Given the description of an element on the screen output the (x, y) to click on. 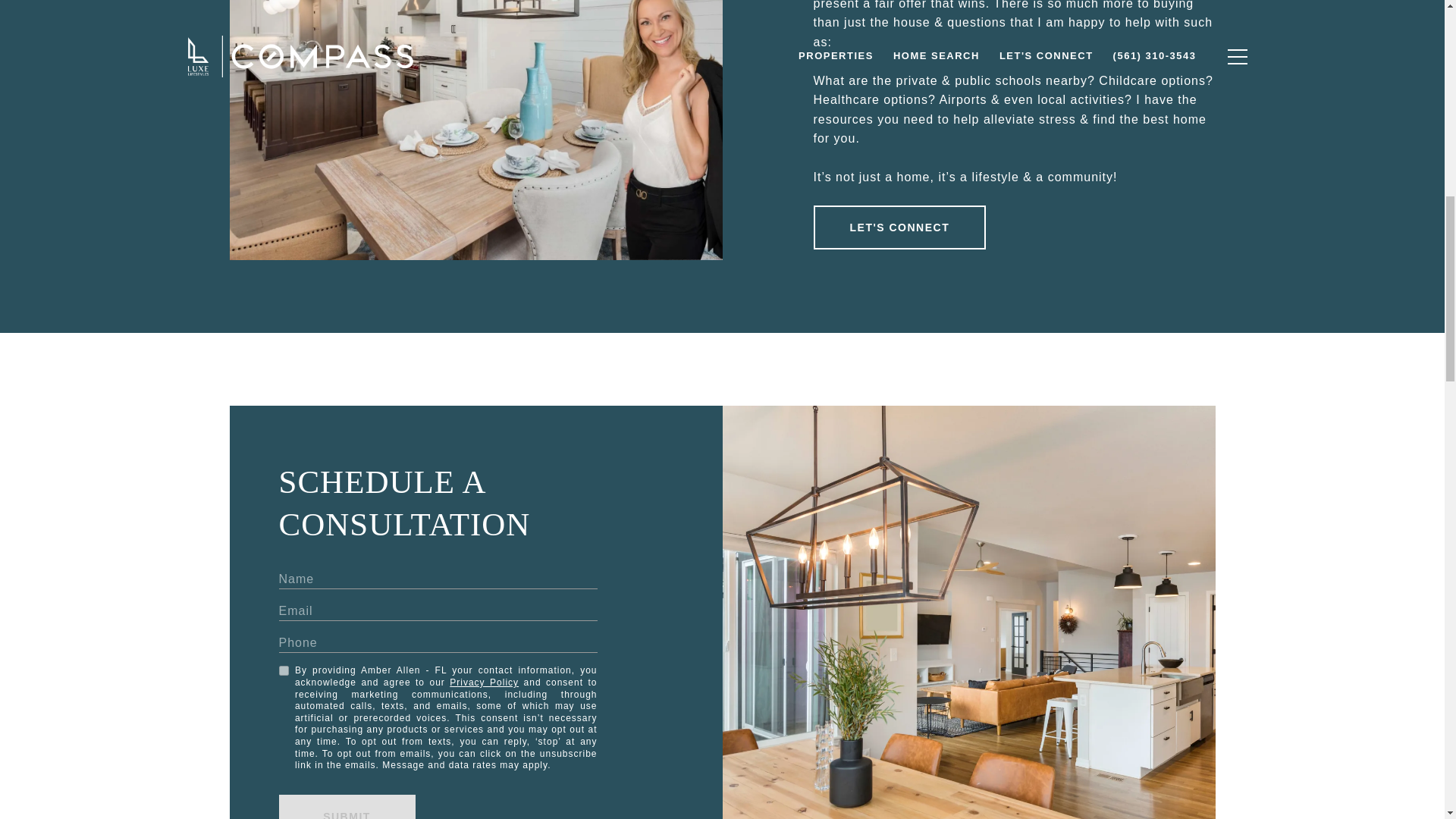
on (283, 670)
LET'S CONNECT (898, 227)
SUBMIT (346, 806)
Privacy Policy (483, 682)
